Given the description of an element on the screen output the (x, y) to click on. 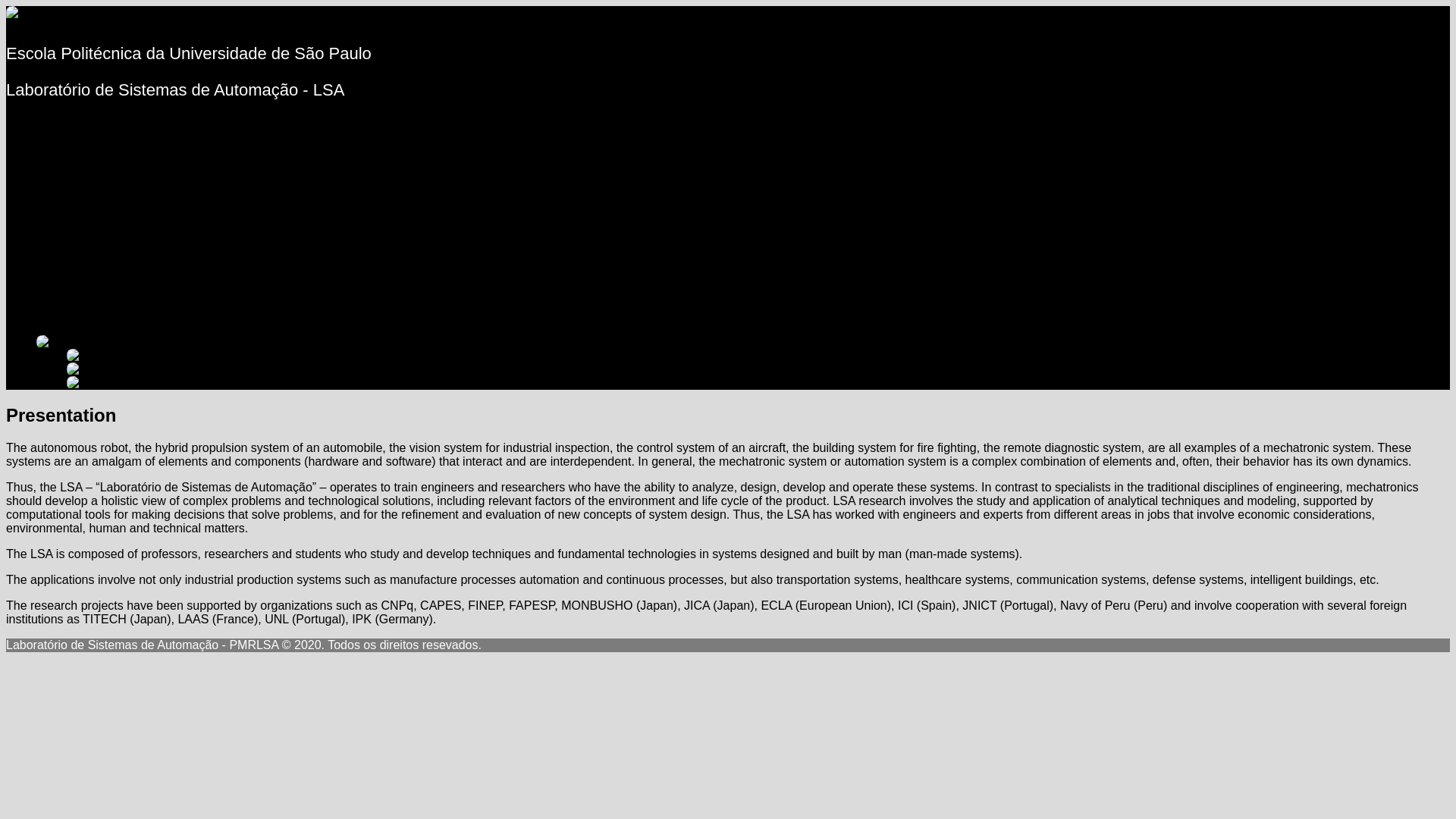
Balanced Automation Systems Element type: text (148, 191)
Collaborating researchers Element type: text (135, 286)
Portuguese Element type: hover (77, 368)
Doctoral students Element type: text (113, 245)
Undergraduates Element type: text (109, 272)
Presentation Element type: text (70, 122)
Spanish Element type: hover (78, 382)
Historic Element type: text (86, 136)
Sponsors Element type: text (92, 163)
Research areas Element type: text (109, 150)
Professors Element type: text (95, 231)
English Element type: hover (49, 341)
Projects Element type: text (58, 177)
Contact Element type: text (57, 300)
Master students Element type: text (109, 259)
Intelligent Productive Systems Element type: text (147, 204)
Members Element type: text (61, 218)
English Element type: hover (79, 354)
Directions Element type: text (93, 327)
Contact us Element type: text (95, 313)
